Given the description of an element on the screen output the (x, y) to click on. 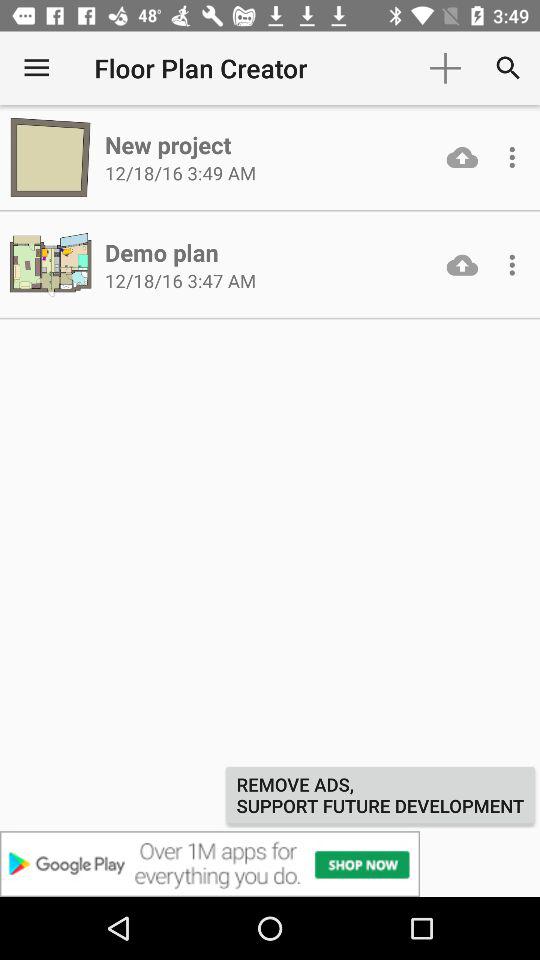
a link to options (512, 157)
